Given the description of an element on the screen output the (x, y) to click on. 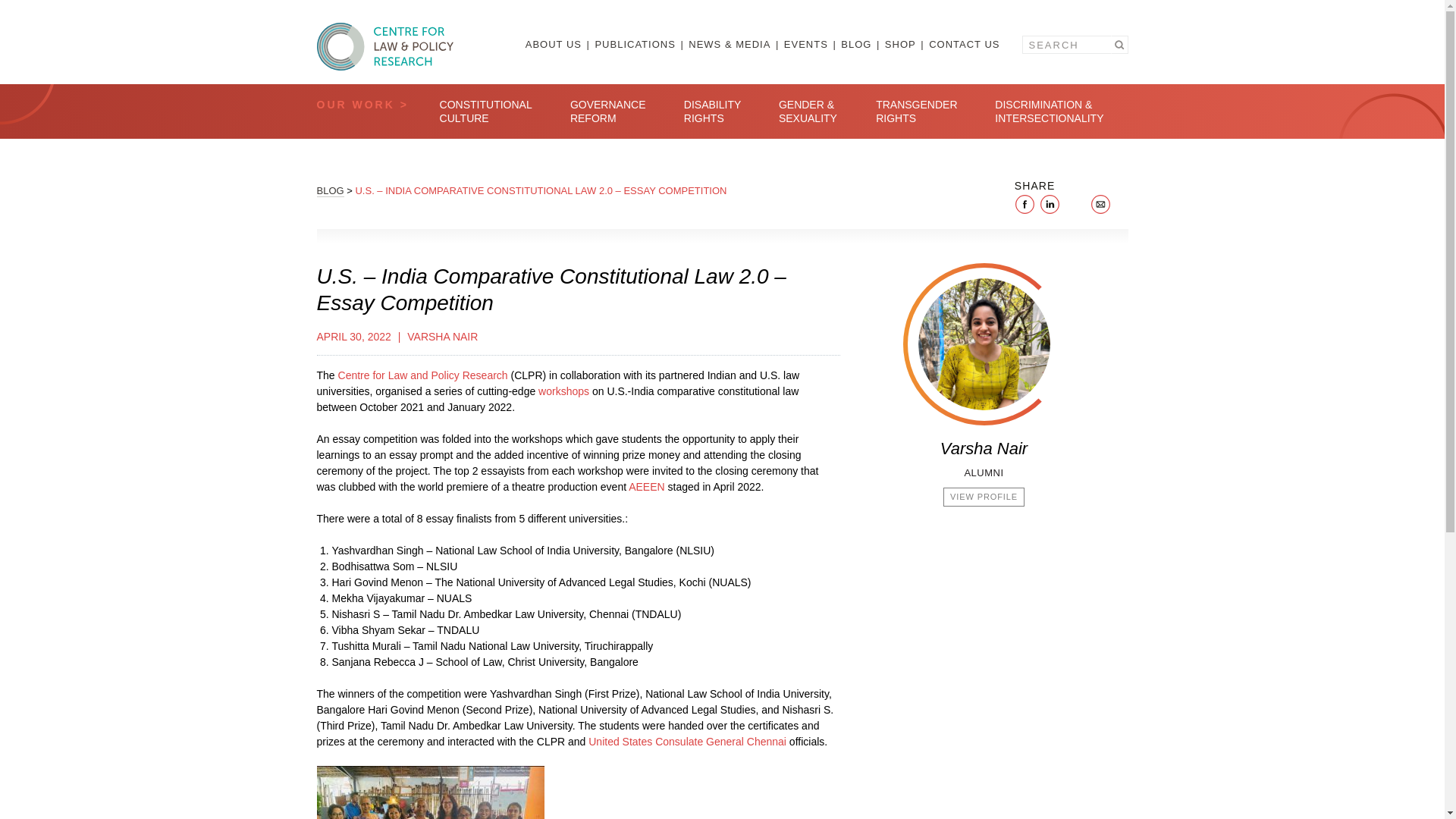
linkedIn (1049, 204)
GOVERNANCE REFORM (608, 111)
CONSTITUTIONAL CULTURE (485, 111)
CONTACT US (963, 44)
DISABILITY RIGHTS (712, 111)
TRANSGENDER RIGHTS (916, 111)
CLPR (384, 46)
ABOUT US (558, 44)
Search (1117, 45)
facebook (1024, 204)
